Given the description of an element on the screen output the (x, y) to click on. 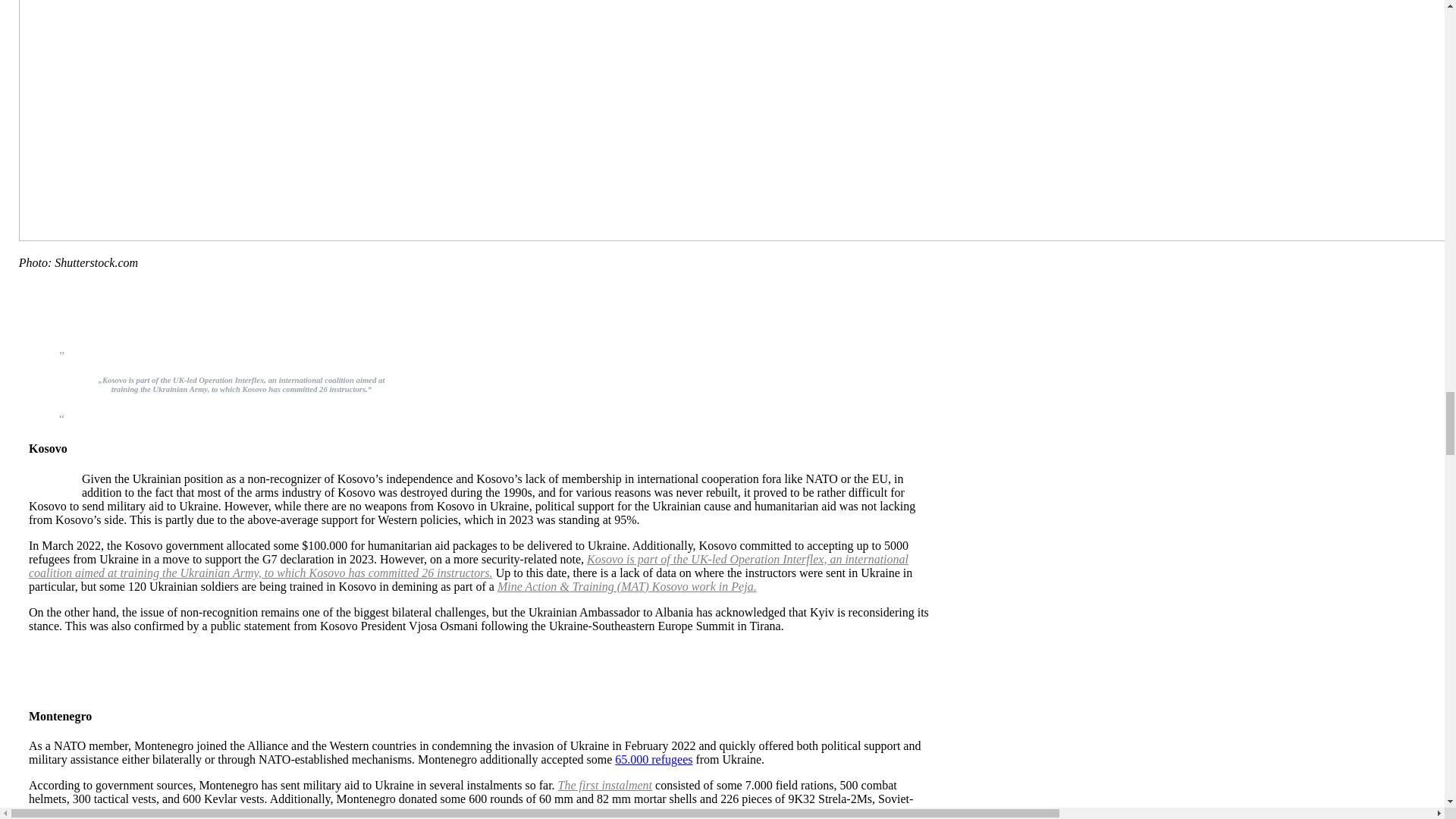
65.000 refugees (653, 758)
The first instalment (604, 784)
